Given the description of an element on the screen output the (x, y) to click on. 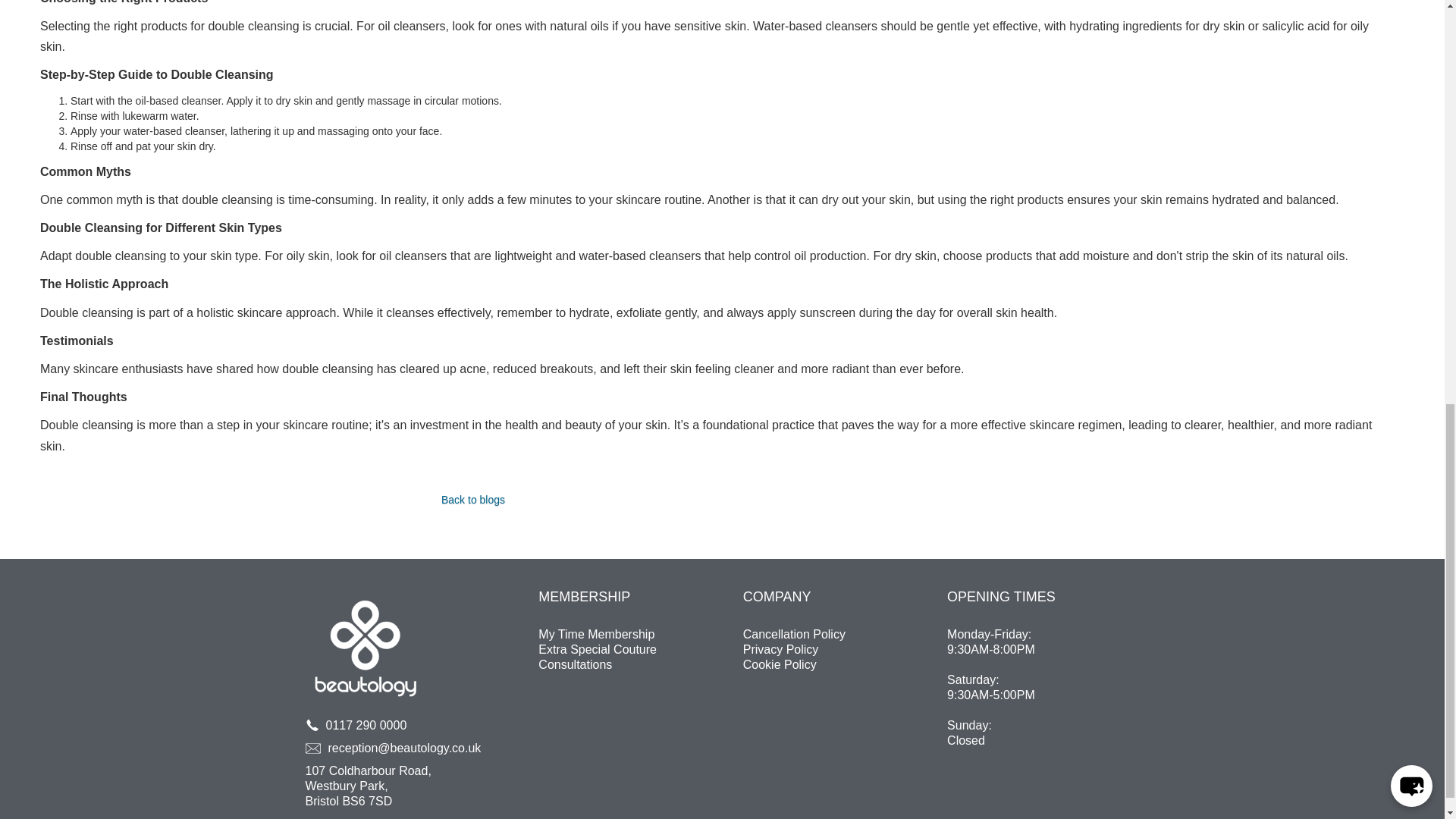
My Time Membership (595, 634)
Cookie Policy (838, 664)
Privacy Policy (838, 649)
Extra Special Couture Consultations (634, 657)
Cancellation Policy (838, 634)
0117 290 0000 (384, 725)
Back to blogs (473, 499)
